Given the description of an element on the screen output the (x, y) to click on. 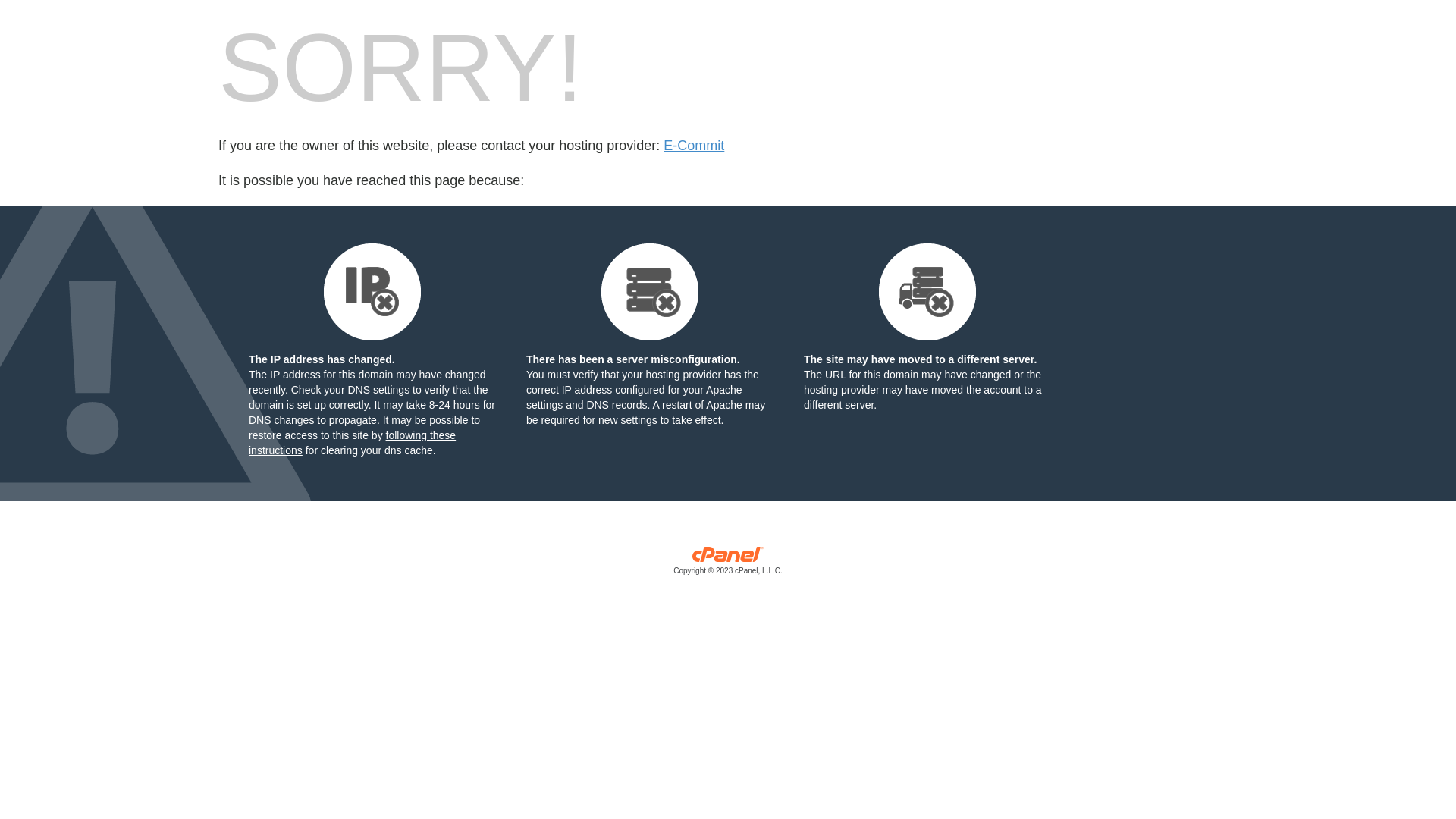
E-Commit Element type: text (693, 145)
following these instructions Element type: text (351, 442)
